Given the description of an element on the screen output the (x, y) to click on. 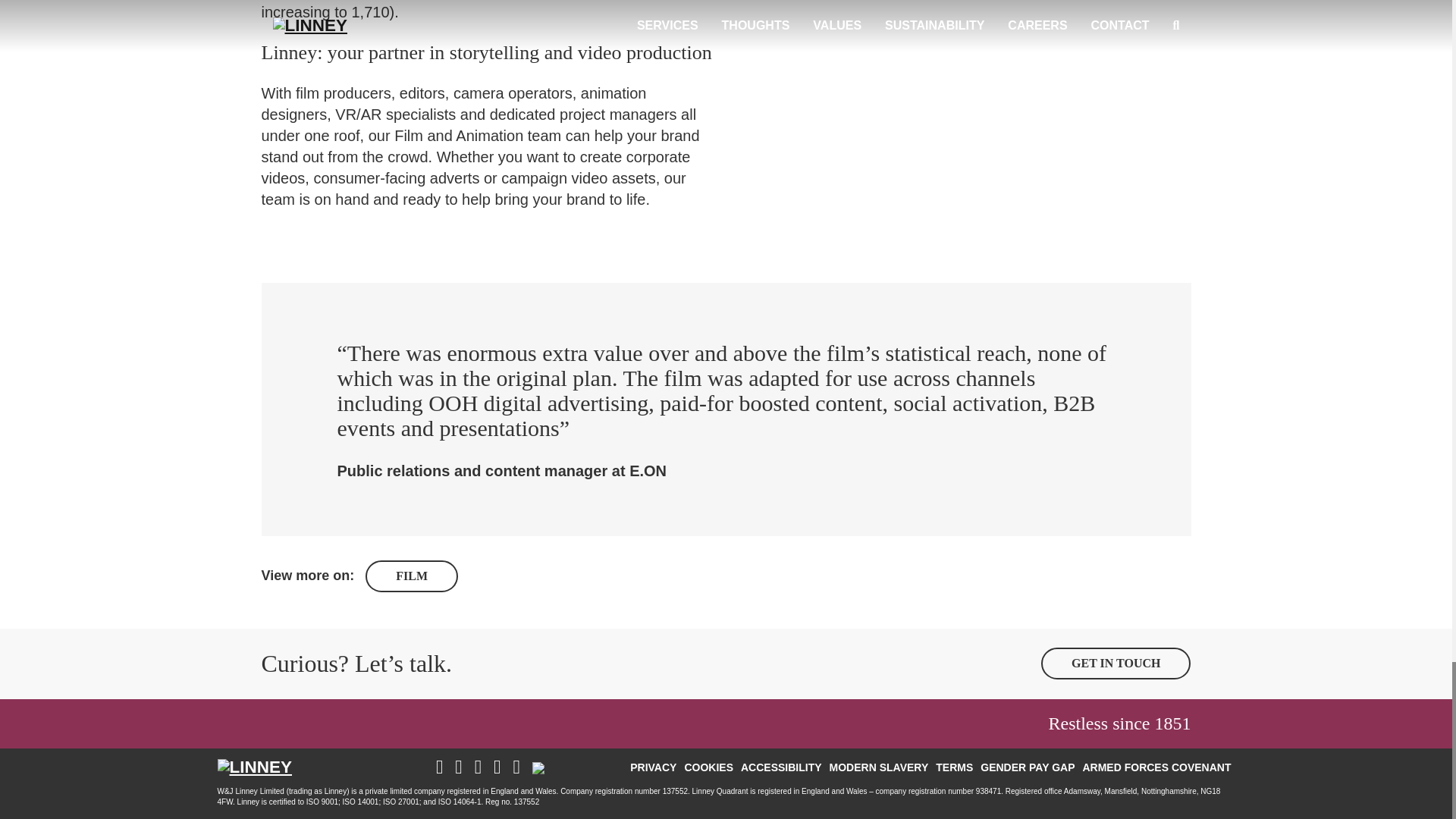
COOKIES (707, 767)
FILM (411, 576)
MODERN SLAVERY (879, 767)
ACCESSIBILITY (780, 767)
TERMS (953, 767)
PRIVACY (652, 767)
GENDER PAY GAP (1027, 767)
ARMED FORCES COVENANT (1156, 767)
GET IN TOUCH (1116, 663)
